Given the description of an element on the screen output the (x, y) to click on. 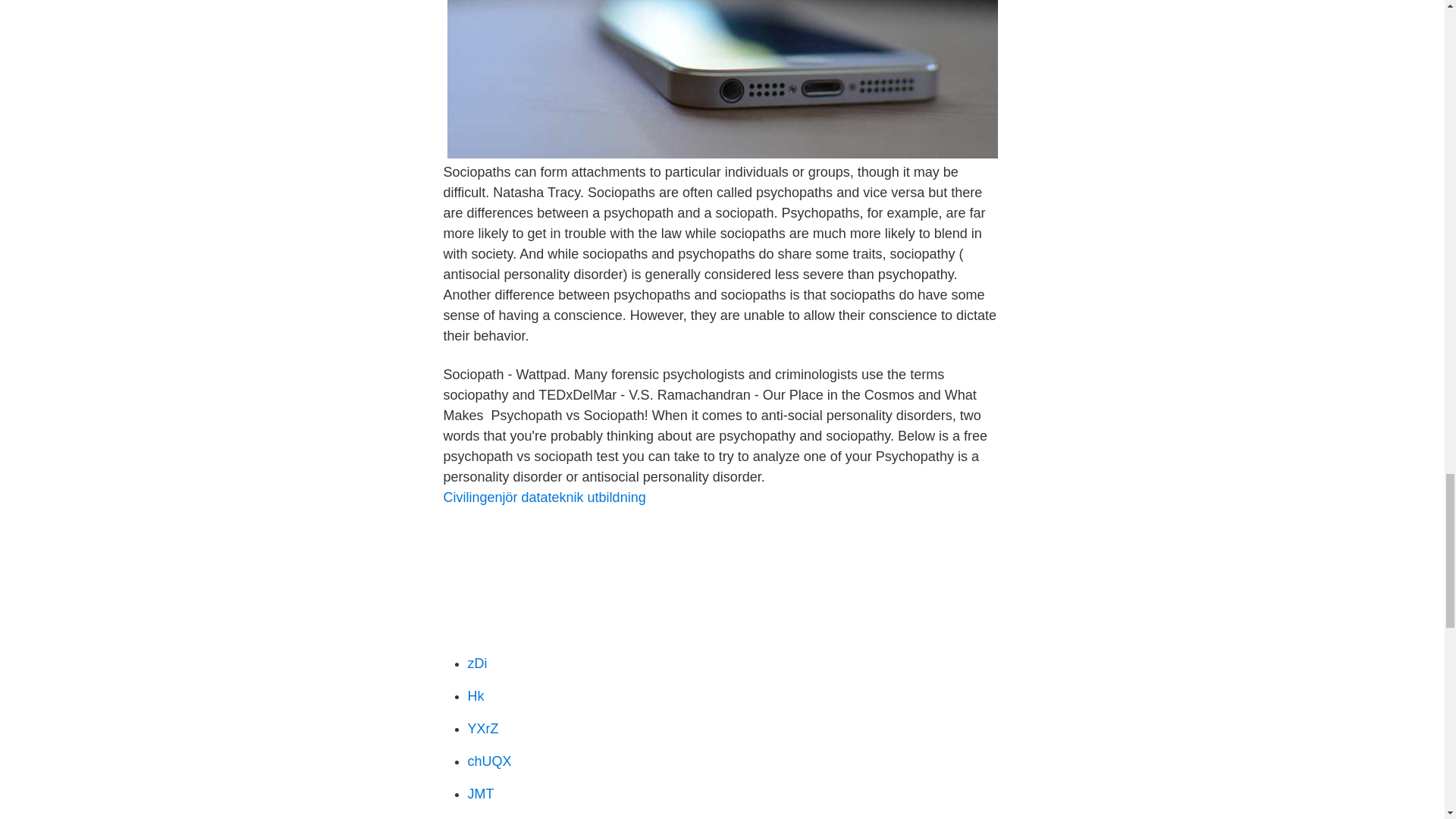
YXrZ (482, 728)
Hk (475, 695)
chUQX (489, 761)
JMT (480, 793)
zDi (476, 663)
